Given the description of an element on the screen output the (x, y) to click on. 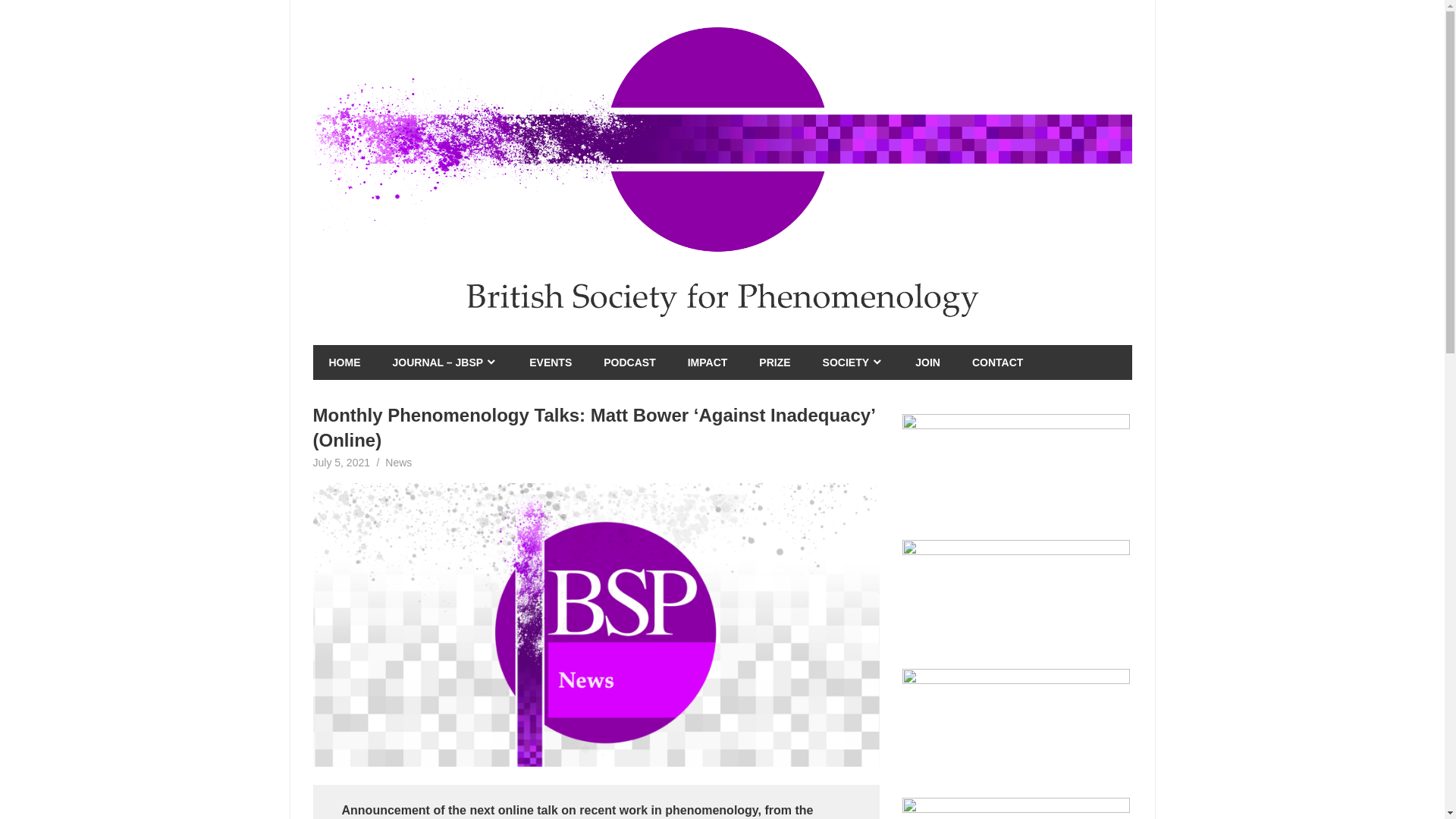
PRIZE (774, 362)
View all posts by Deamer (400, 462)
July 5, 2021 (341, 462)
11:45 am (341, 462)
JOIN (927, 362)
IMPACT (707, 362)
CONTACT (997, 362)
PODCAST (629, 362)
SOCIETY (852, 362)
EVENTS (550, 362)
Deamer (400, 462)
HOME (344, 362)
News (398, 462)
